Given the description of an element on the screen output the (x, y) to click on. 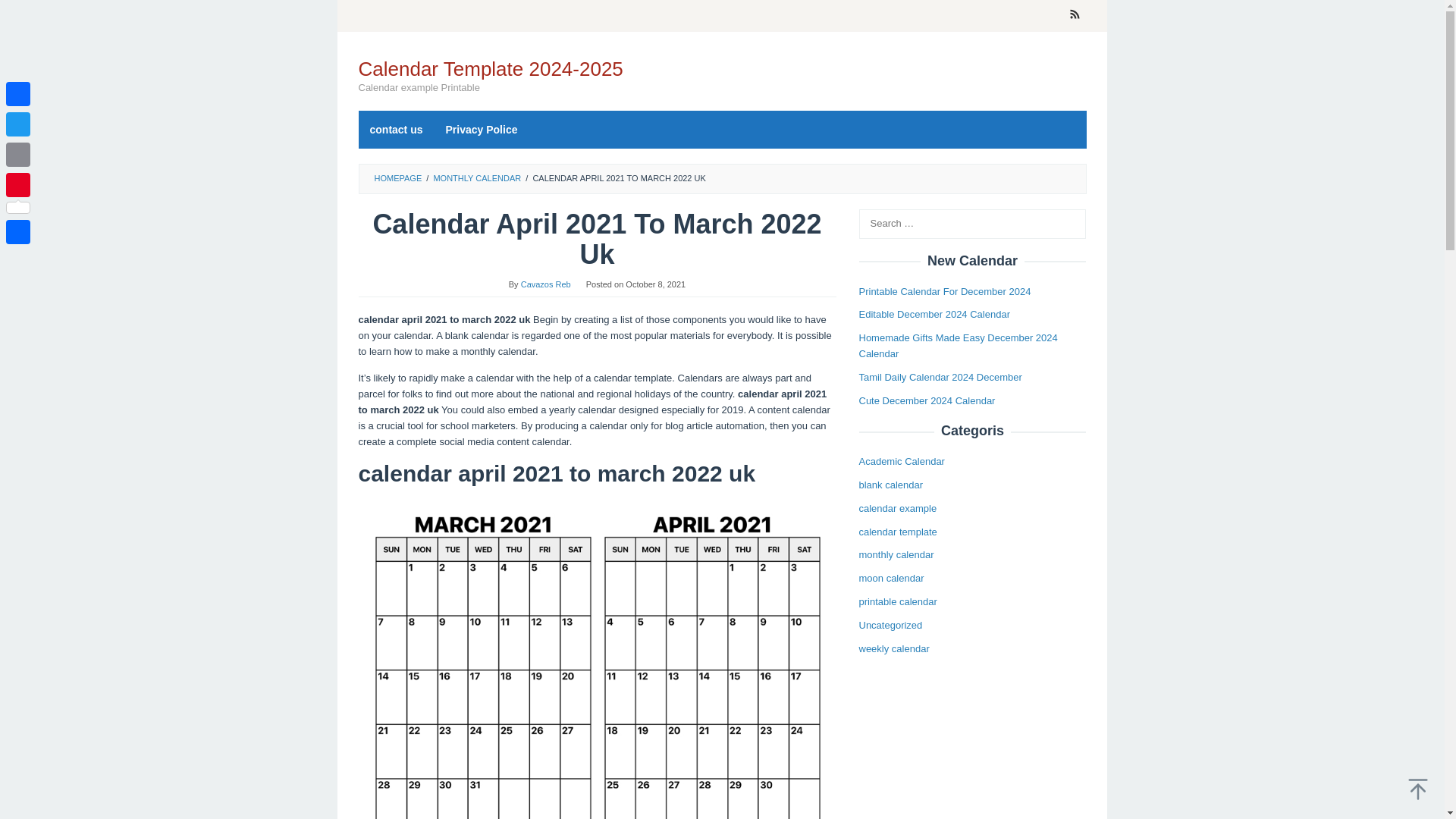
Printable Calendar For December 2024 (944, 291)
MONTHLY CALENDAR (476, 177)
Calendar Template 2024-2025 (490, 68)
Permalink to: Cavazos Reb (545, 284)
Cute December 2024 Calendar (926, 400)
HOMEPAGE (398, 177)
Search (26, 14)
printable calendar (897, 601)
Share (17, 232)
moon calendar (891, 577)
